Given the description of an element on the screen output the (x, y) to click on. 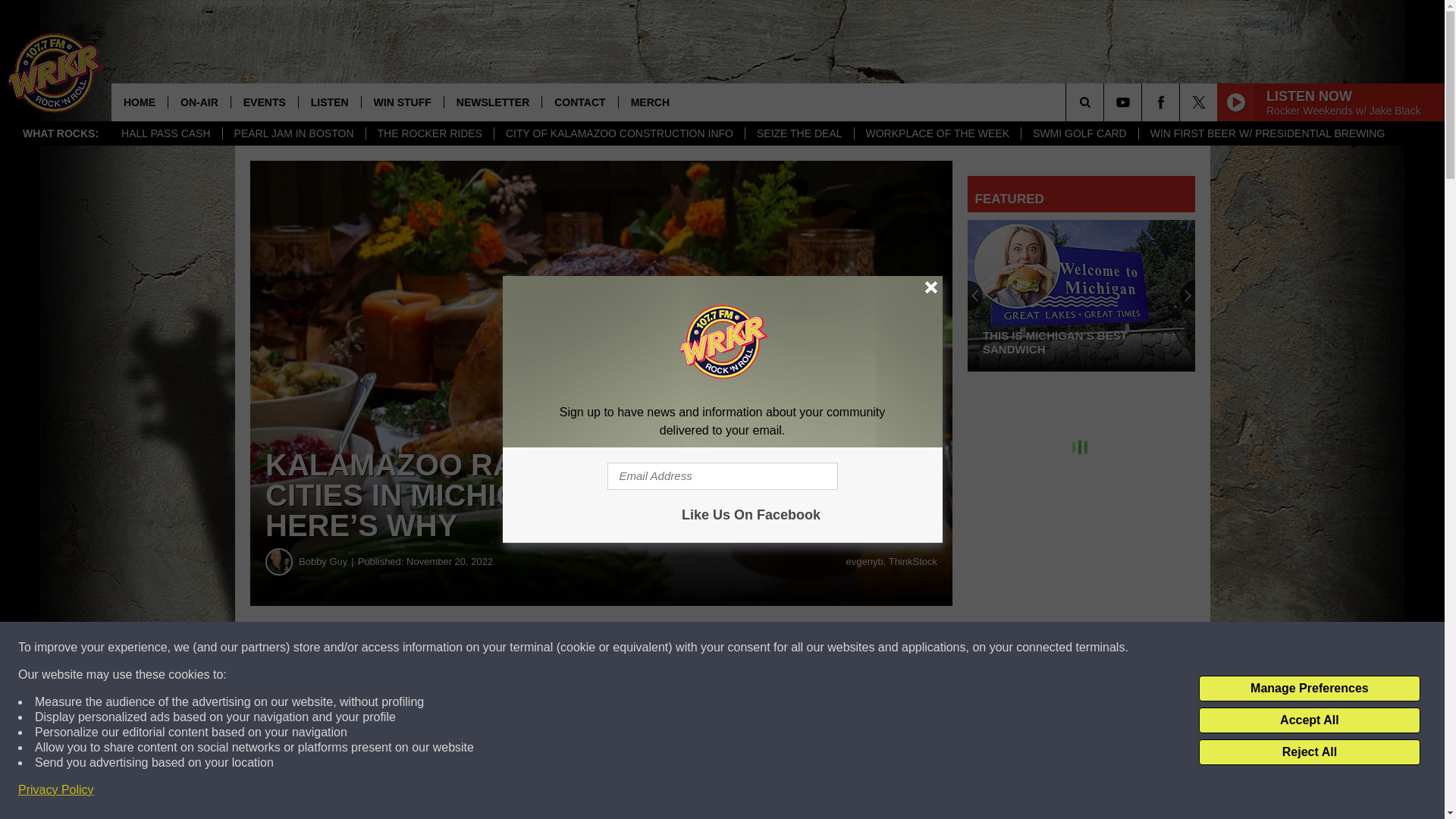
ON-AIR (198, 102)
LISTEN (329, 102)
WIN STUFF (402, 102)
Privacy Policy (55, 789)
THE ROCKER RIDES (429, 133)
WORKPLACE OF THE WEEK (937, 133)
Accept All (1309, 720)
NEWSLETTER (492, 102)
SEIZE THE DEAL (798, 133)
Reject All (1309, 751)
Manage Preferences (1309, 688)
CITY OF KALAMAZOO CONSTRUCTION INFO (618, 133)
SEARCH (1106, 102)
PEARL JAM IN BOSTON (293, 133)
HOME (139, 102)
